Given the description of an element on the screen output the (x, y) to click on. 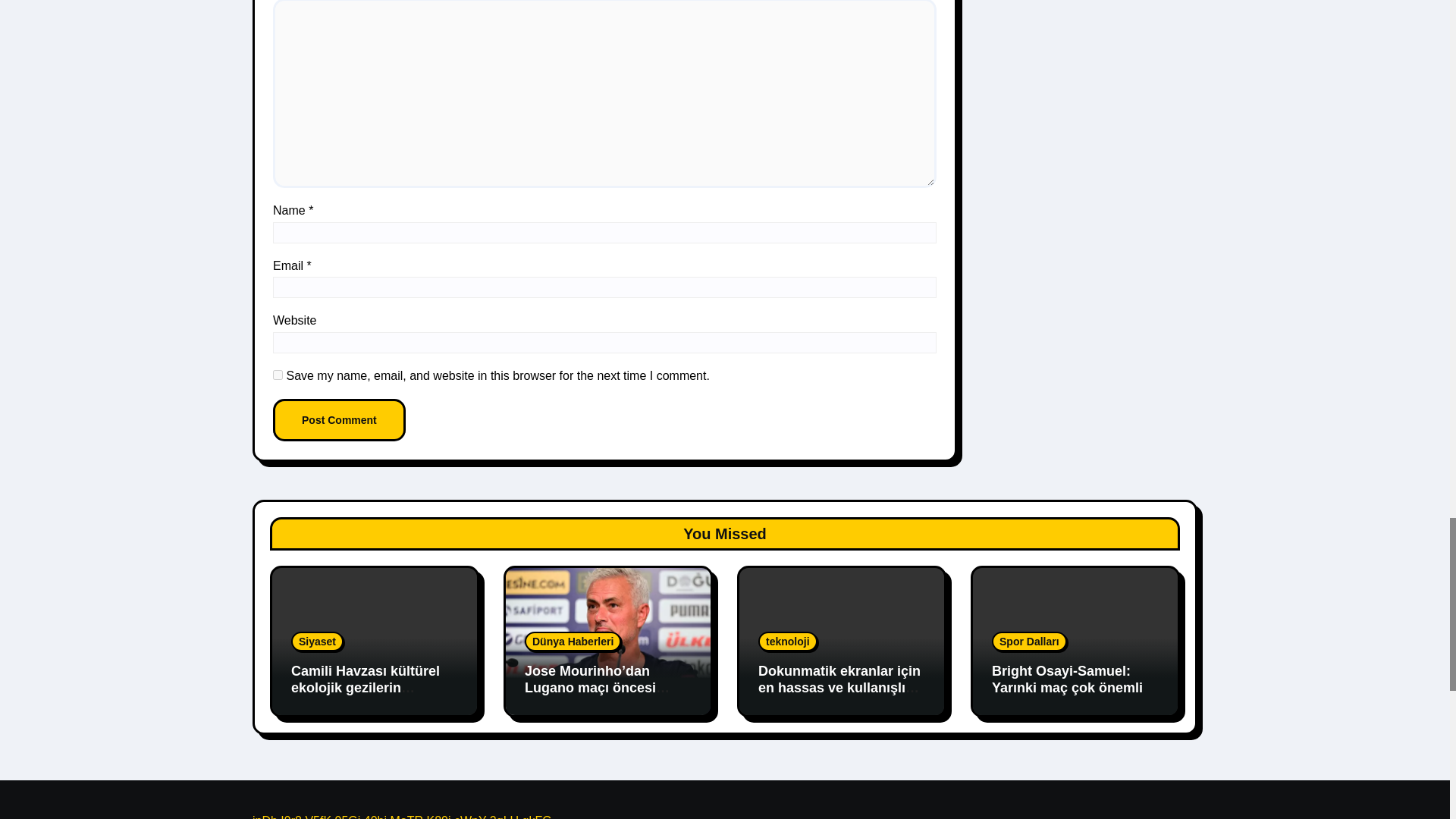
yes (277, 375)
Post Comment (339, 419)
